Given the description of an element on the screen output the (x, y) to click on. 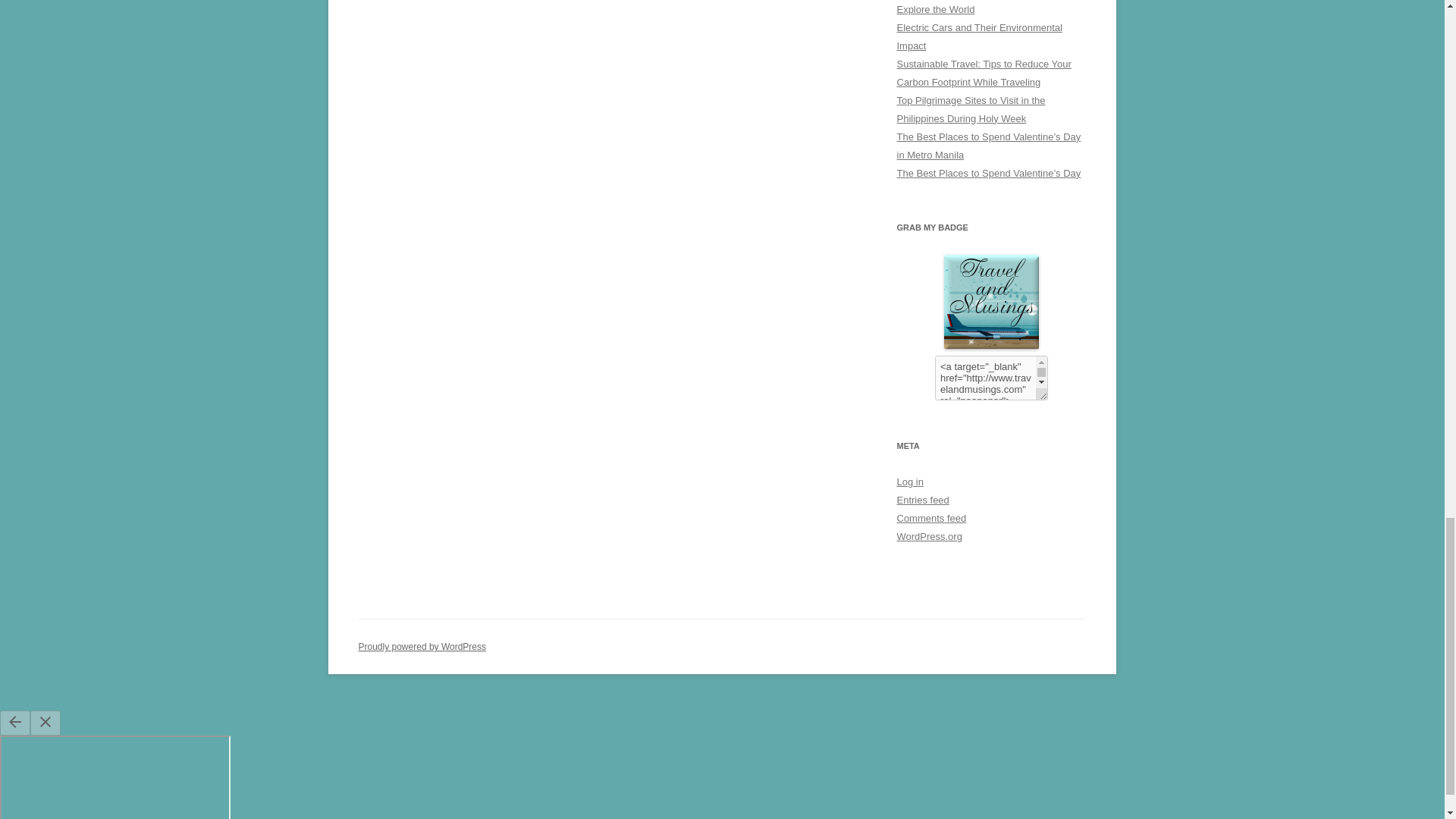
Entries feed (922, 500)
Comments feed (931, 518)
Log in (909, 481)
Semantic Personal Publishing Platform (422, 646)
The Benefits of Traveling: Why You Should Explore the World (989, 7)
WordPress.org (928, 536)
Electric Cars and Their Environmental Impact (978, 36)
